Given the description of an element on the screen output the (x, y) to click on. 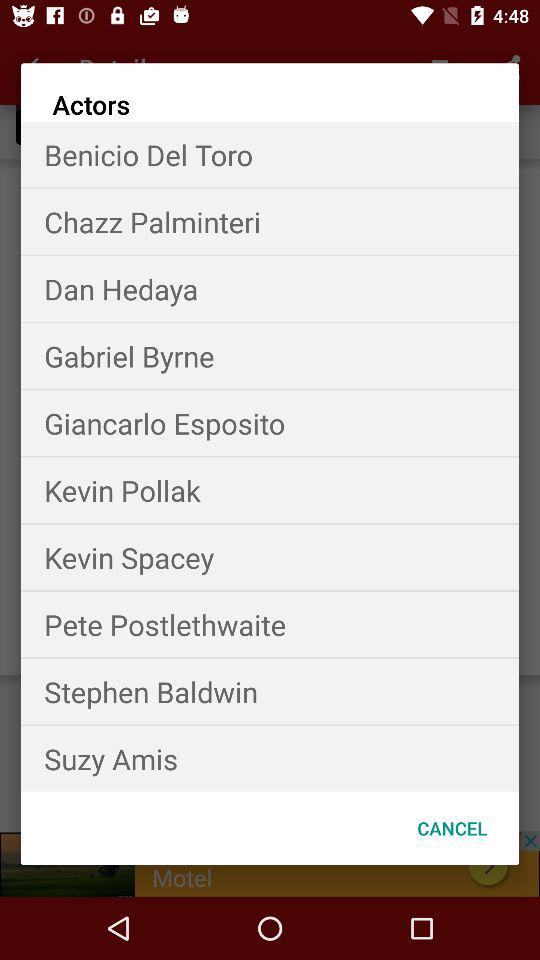
tap item below the    stephen baldwin icon (269, 758)
